Given the description of an element on the screen output the (x, y) to click on. 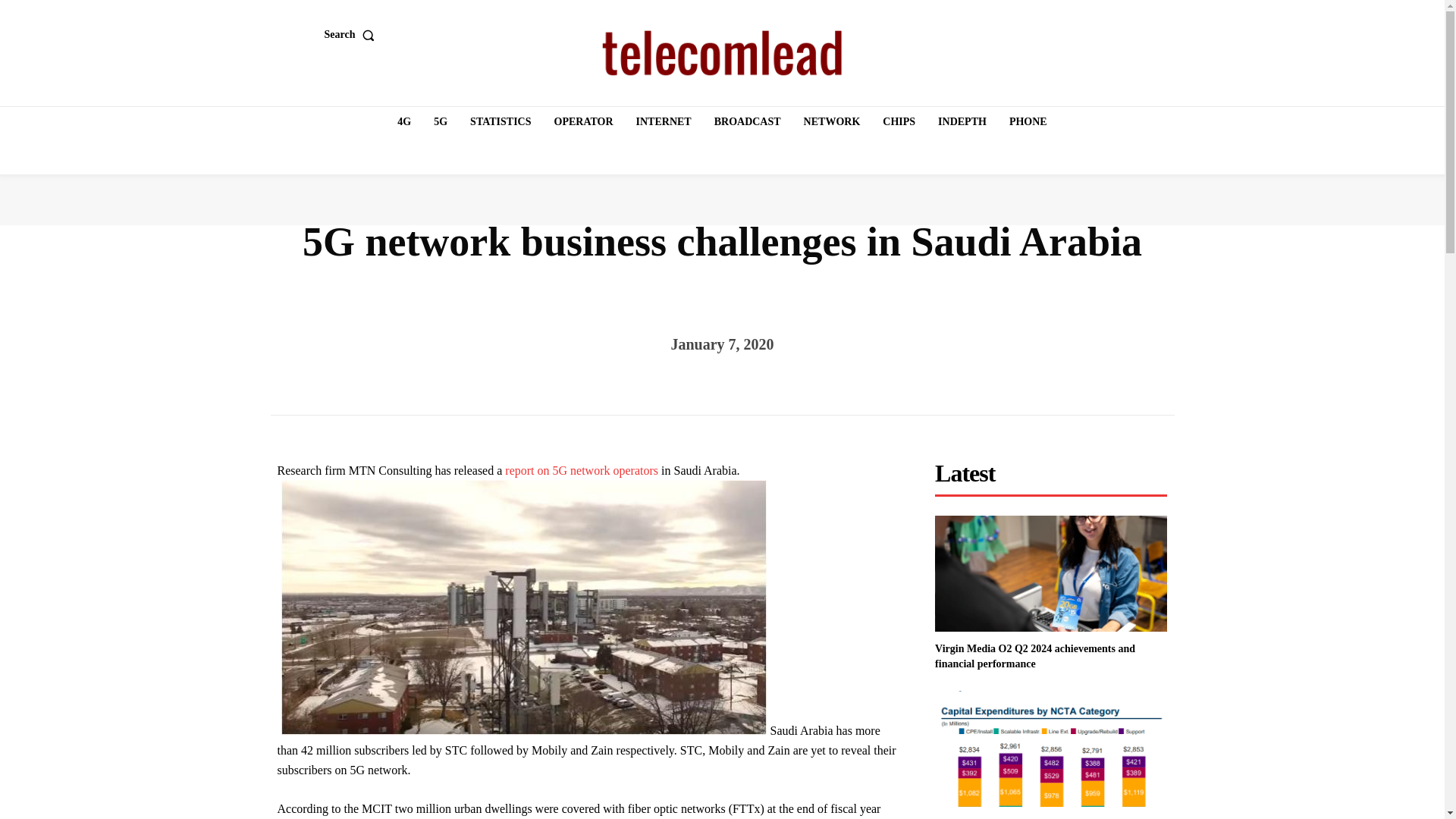
STATISTICS (500, 122)
4G (404, 122)
Charter reports second quarter 2024 achievements (1050, 748)
OPERATOR (584, 122)
5G (440, 122)
BROADCAST (747, 122)
INTERNET (663, 122)
NETWORK (831, 122)
Search (352, 34)
INDEPTH (962, 122)
report on 5G network operators (581, 470)
